Given the description of an element on the screen output the (x, y) to click on. 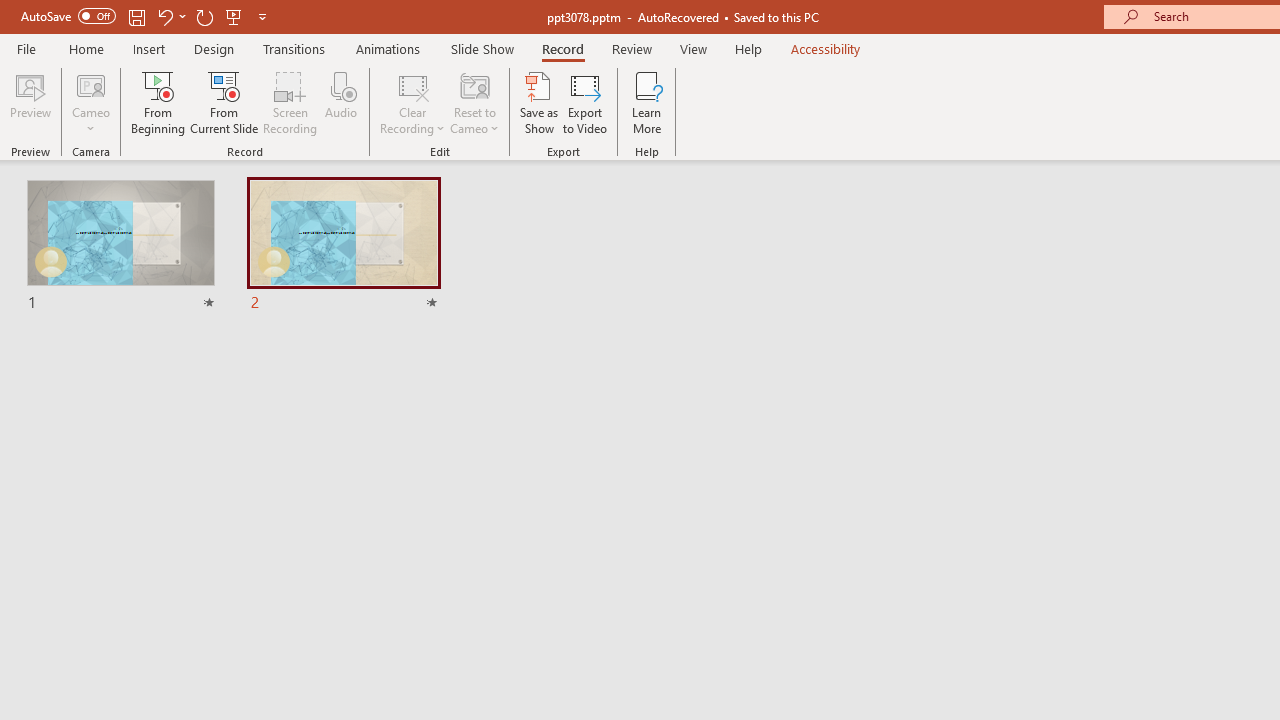
Export to Video (585, 102)
Save as Show (539, 102)
Reset to Cameo (474, 102)
